Given the description of an element on the screen output the (x, y) to click on. 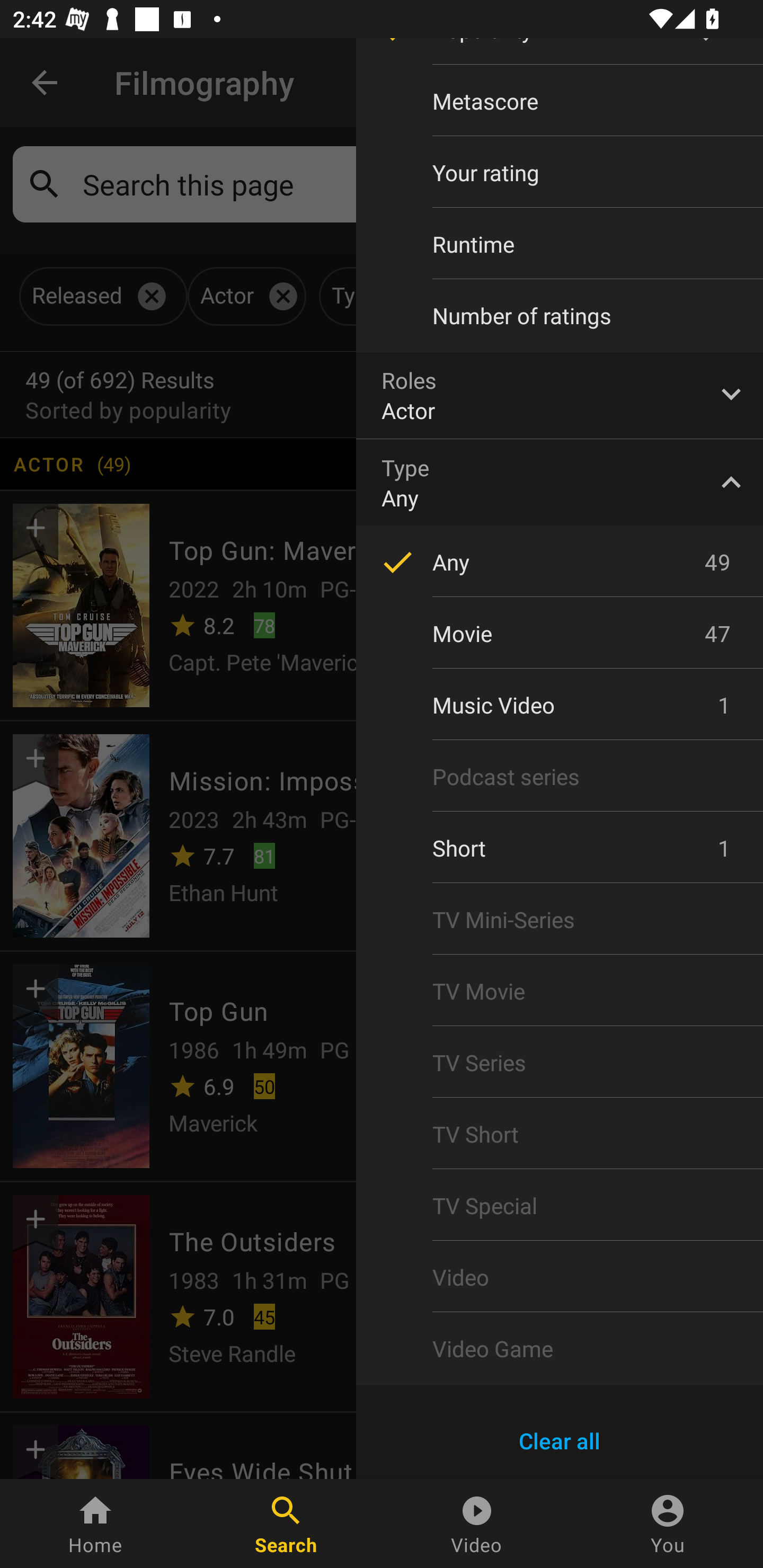
Metascore (559, 100)
Your rating (559, 171)
Runtime (559, 243)
Number of ratings (559, 315)
Roles Actor (559, 394)
Type Any (559, 482)
Any 49 (559, 561)
Movie 47 (559, 632)
Music Video 1 (559, 704)
Podcast series (559, 776)
Short 1 (559, 847)
TV Mini-Series (559, 919)
TV Movie (559, 990)
TV Series (559, 1062)
TV Short (559, 1134)
TV Special (559, 1205)
Video (559, 1276)
Video Game (559, 1347)
Clear all (559, 1440)
Home (95, 1523)
Video (476, 1523)
You (667, 1523)
